Given the description of an element on the screen output the (x, y) to click on. 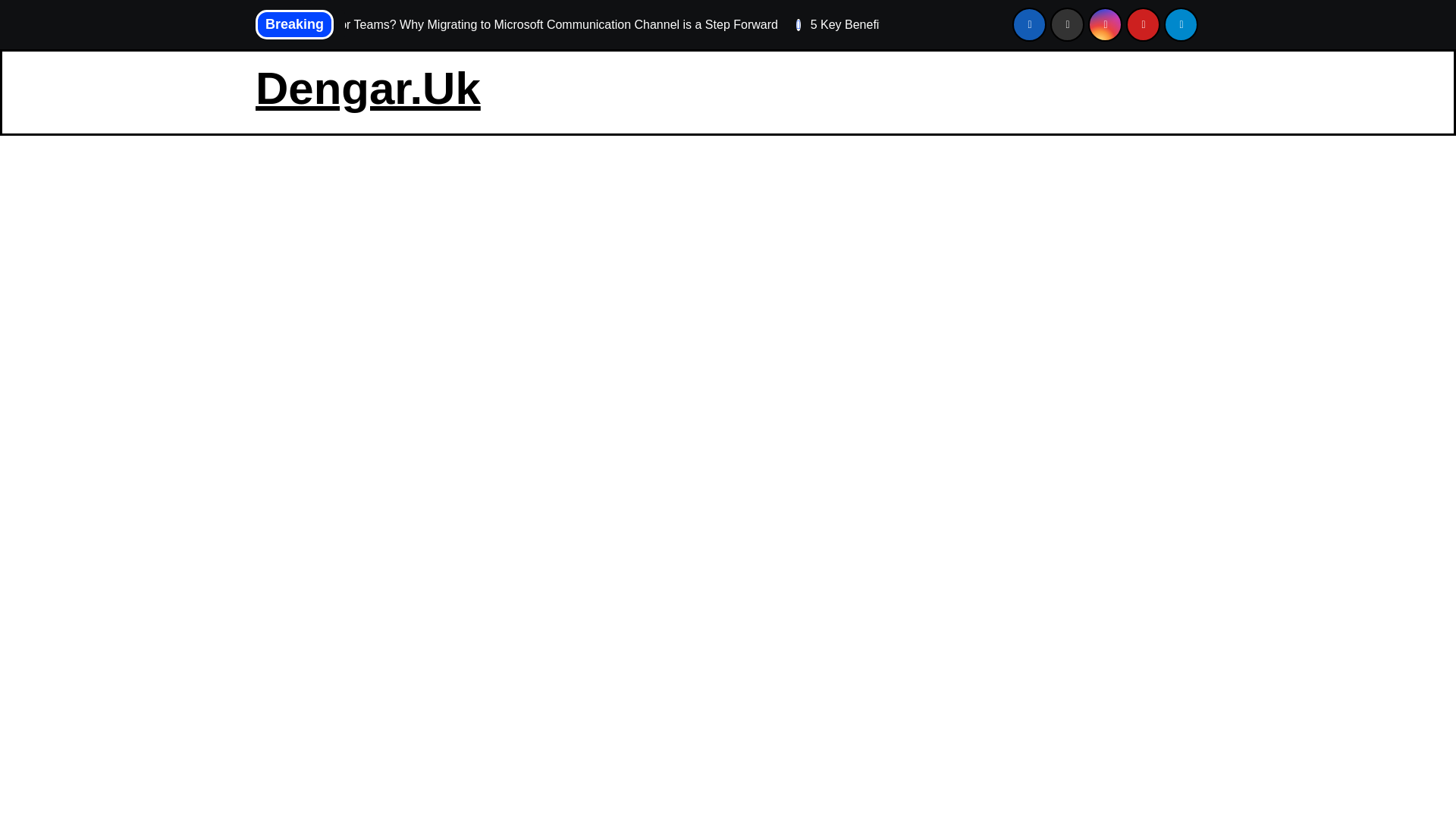
5 Key Benefits of Outsourcing to HR Consultancy Services (954, 24)
Dengar.Uk (368, 88)
